Given the description of an element on the screen output the (x, y) to click on. 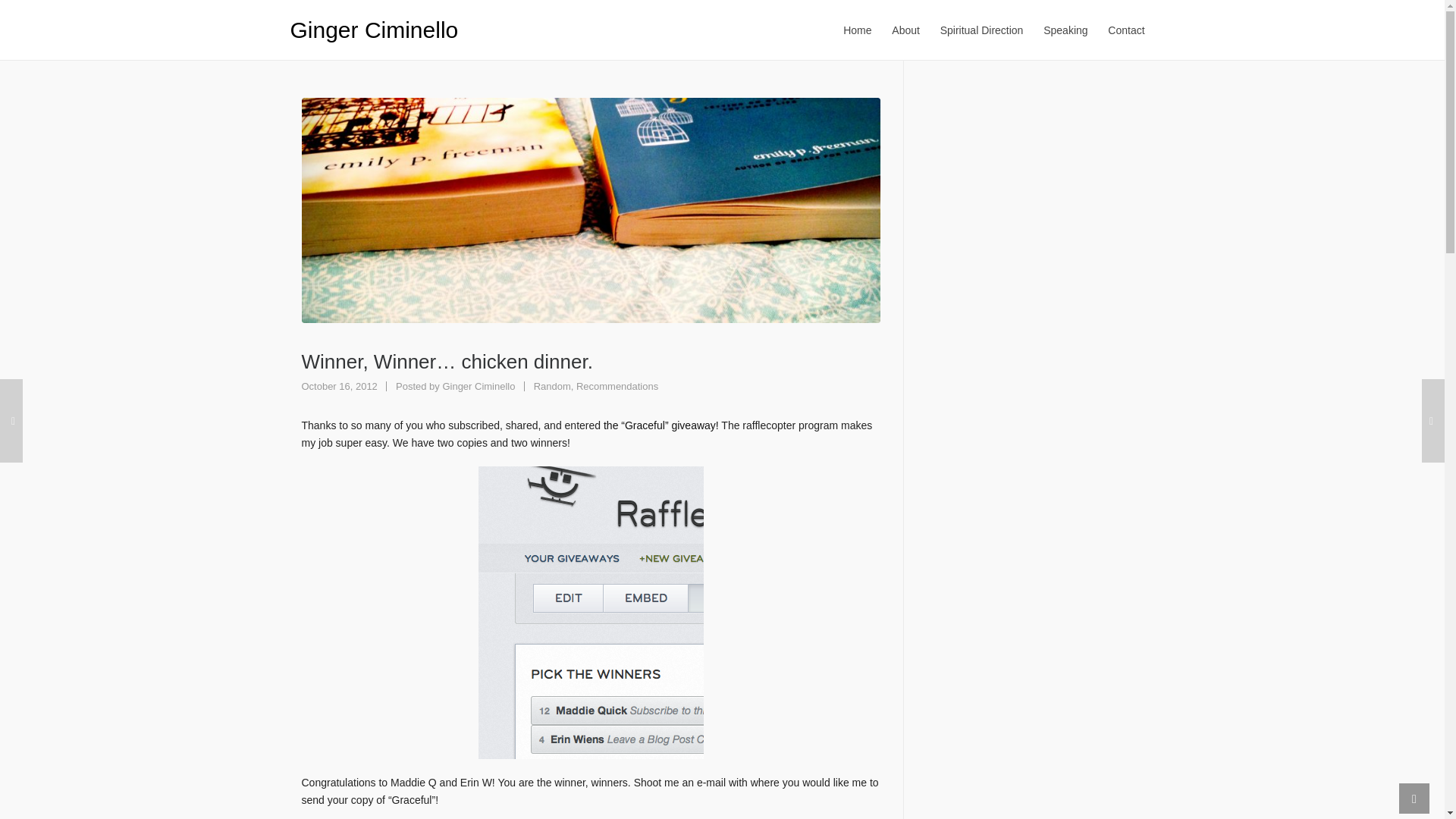
Recommendations (478, 386)
Contact (617, 386)
Ginger Ciminello (1125, 30)
Ginger Ciminello (373, 28)
Spiritual Direction (478, 386)
Speaking (981, 30)
Random (1065, 30)
Graceful Giveaway (552, 386)
